Given the description of an element on the screen output the (x, y) to click on. 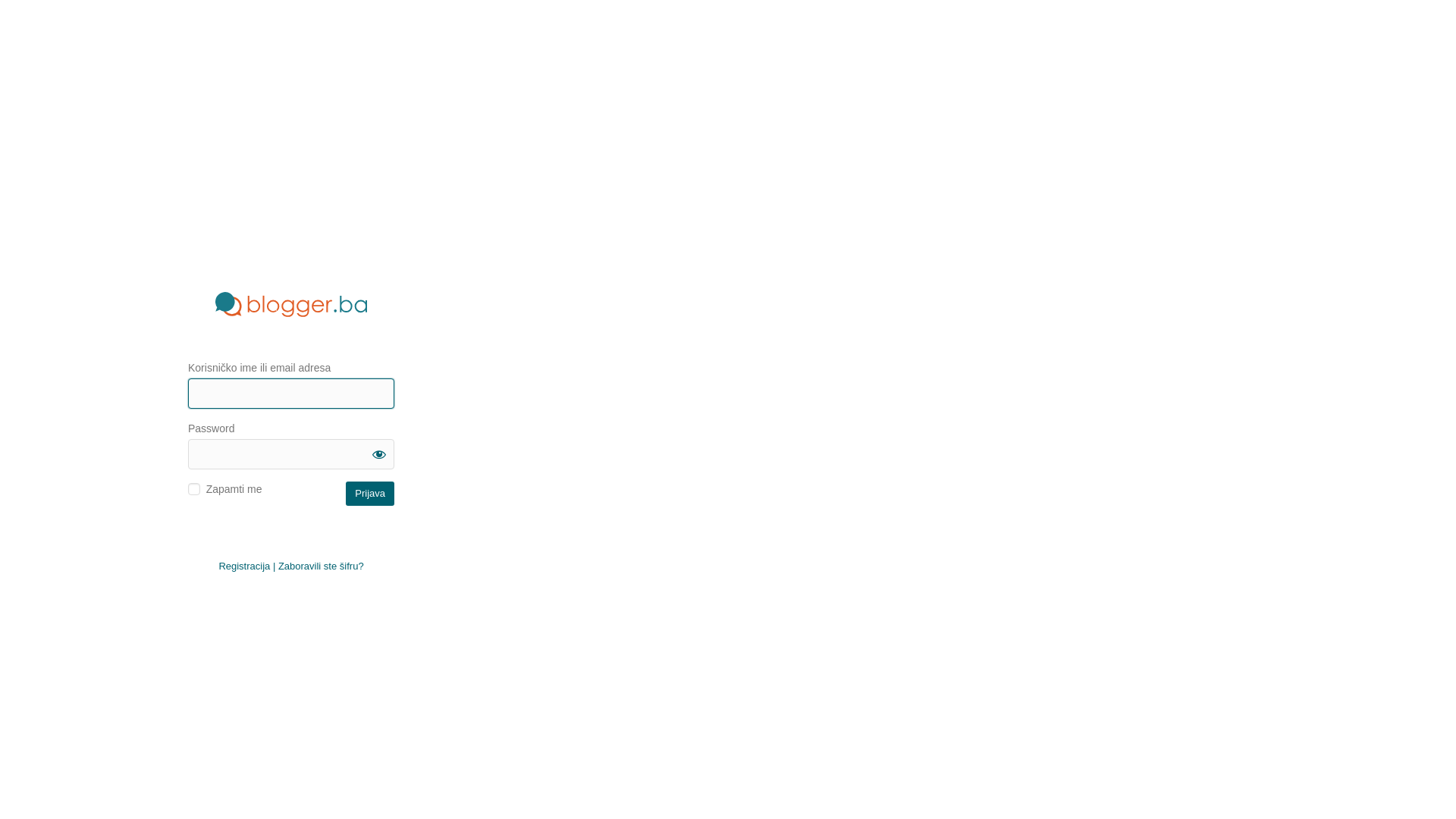
Registracija Element type: text (243, 565)
Prijava Element type: text (369, 493)
